Given the description of an element on the screen output the (x, y) to click on. 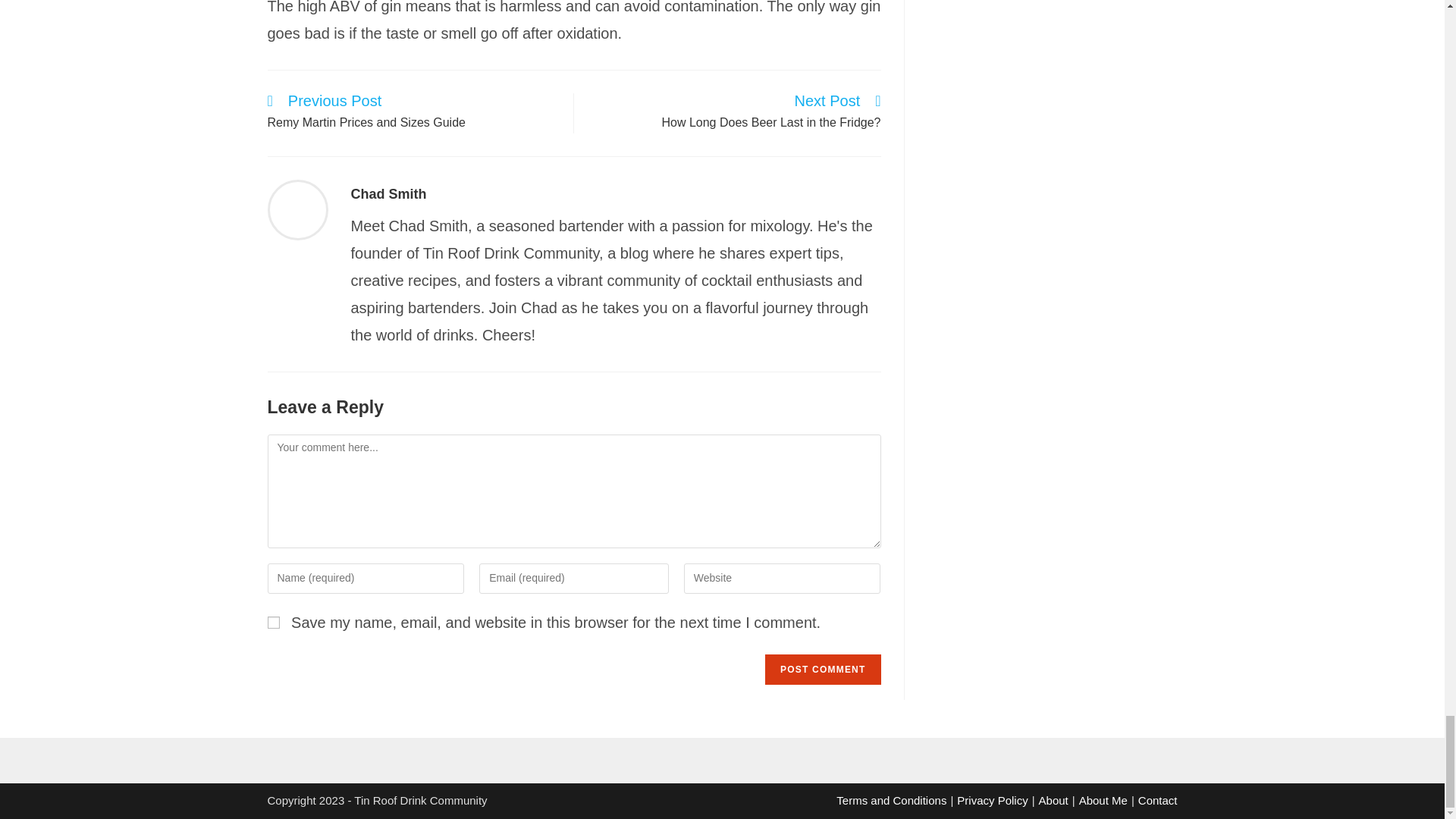
Post Comment (822, 669)
Privacy Policy (991, 799)
Visit author page (296, 208)
Contact (1157, 799)
Visit author page (388, 193)
Post Comment (822, 669)
yes (272, 622)
Terms and Conditions (890, 799)
About (1053, 799)
About Me (1102, 799)
Chad Smith (388, 193)
